Given the description of an element on the screen output the (x, y) to click on. 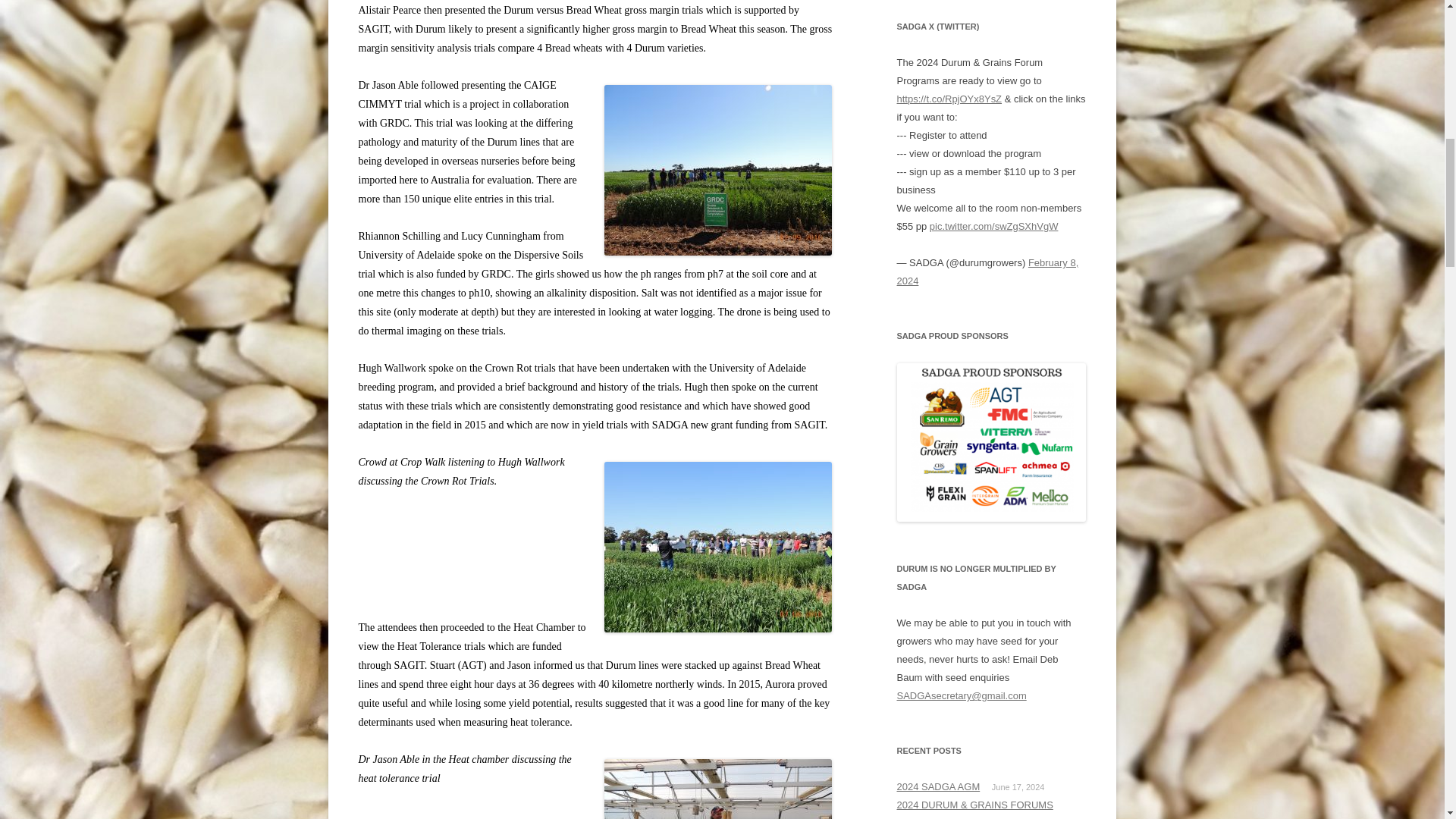
February 8, 2024 (987, 271)
2024 SADGA AGM (937, 786)
